Given the description of an element on the screen output the (x, y) to click on. 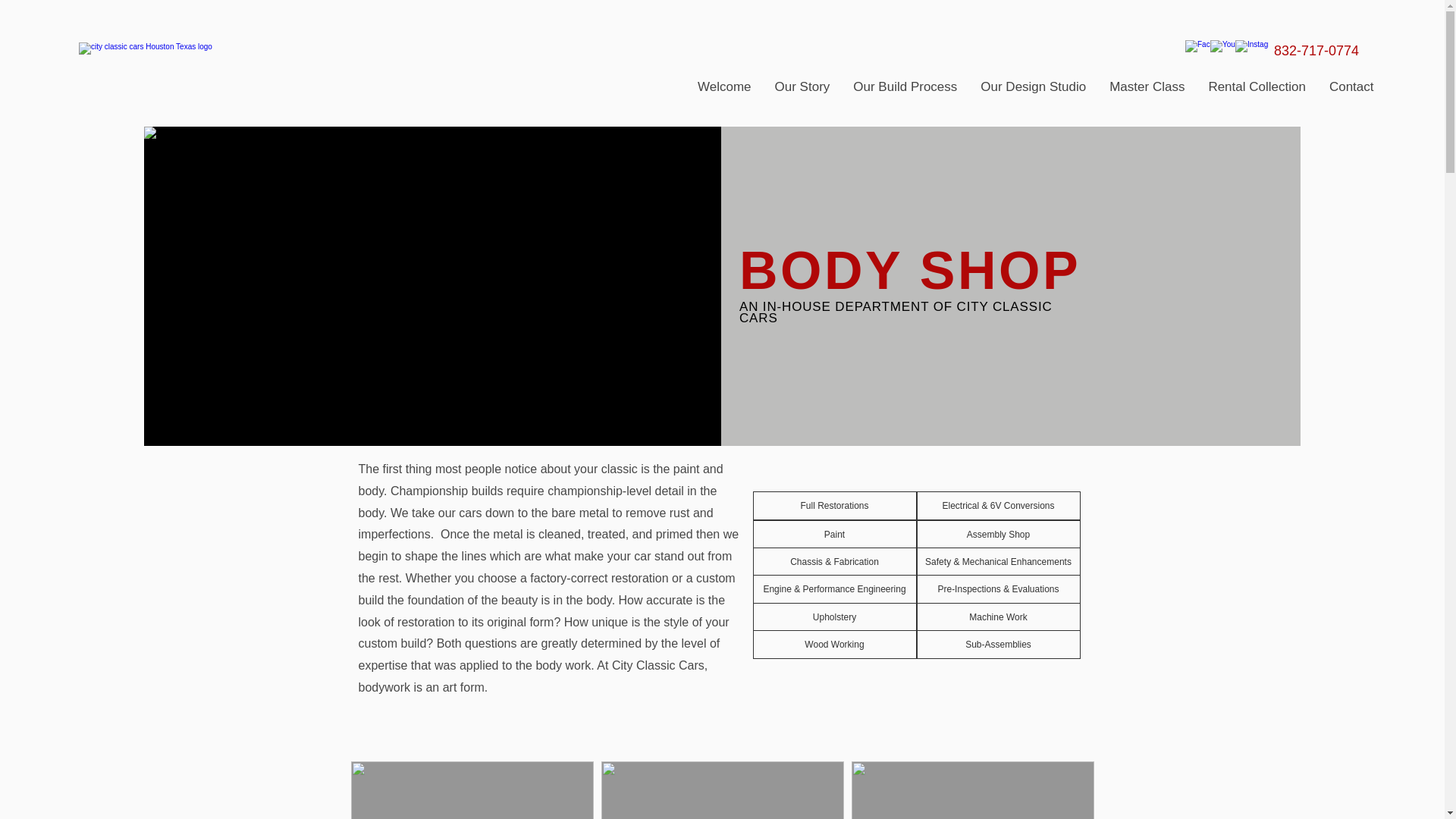
Welcome (723, 90)
Upholstery (833, 616)
Our Story (801, 90)
Our Design Studio (1032, 90)
Rental Collection (1256, 90)
Full Restorations (833, 505)
Paint (833, 534)
Master Class (1146, 90)
Machine Work (997, 616)
Assembly Shop (997, 534)
